Given the description of an element on the screen output the (x, y) to click on. 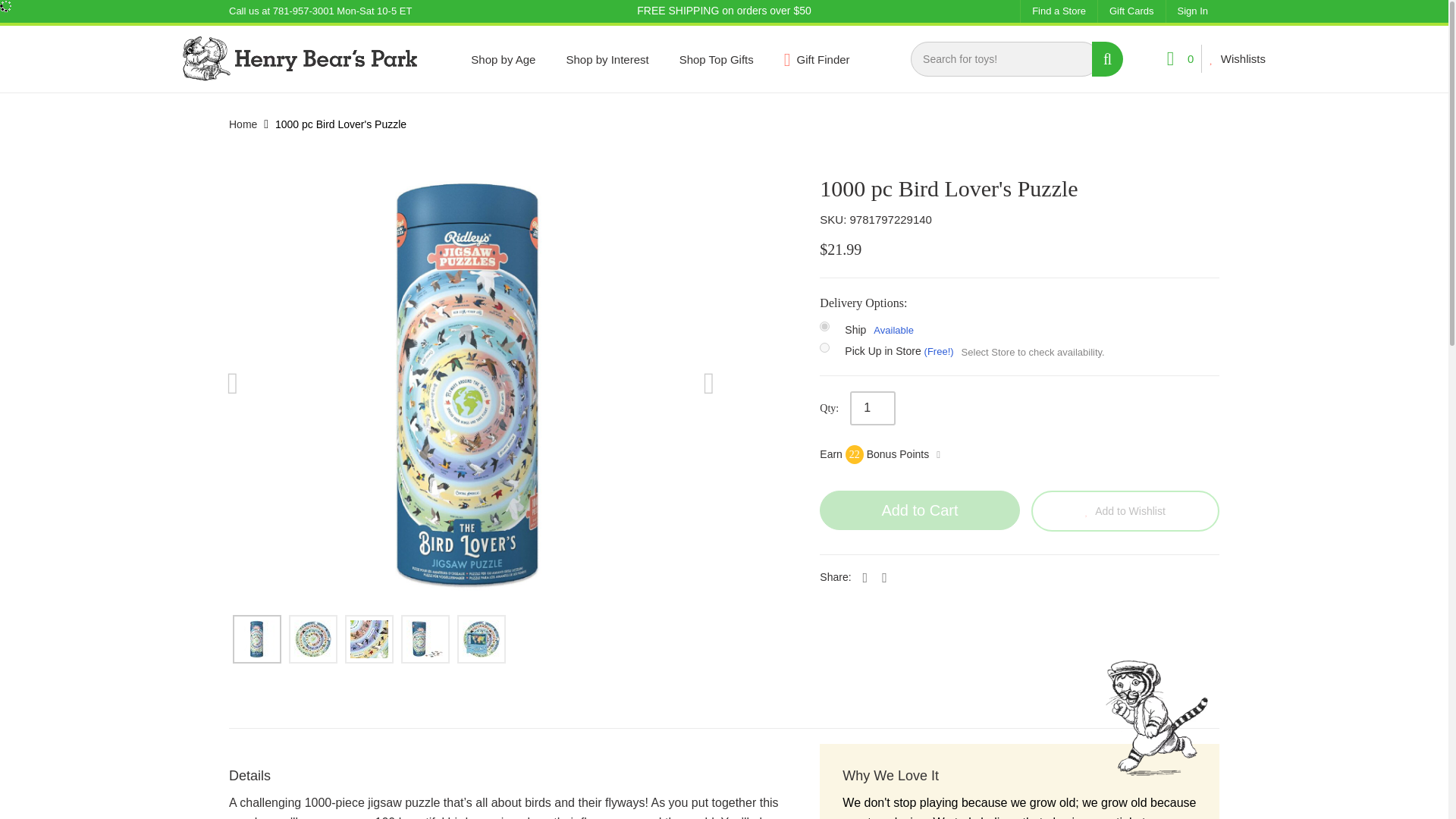
Sign In (1193, 11)
Find a Store (1058, 11)
Find a Store (1058, 11)
on (824, 347)
on (824, 326)
Gift Cards (1131, 11)
1 (872, 408)
Shop by Age (502, 59)
Henry Bears Park (300, 58)
